Given the description of an element on the screen output the (x, y) to click on. 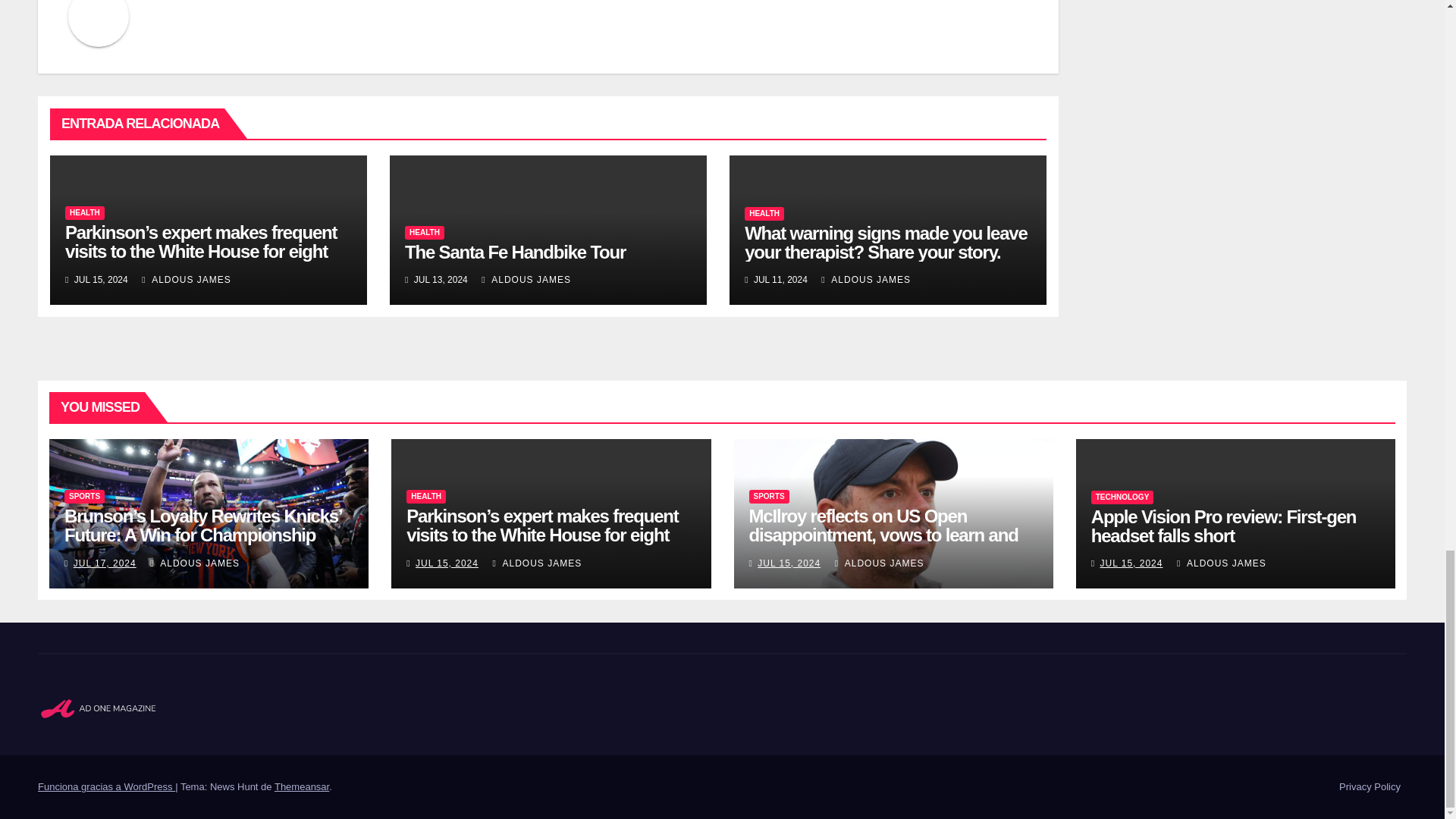
ALDOUS JAMES (186, 279)
ALDOUS JAMES (866, 279)
ALDOUS JAMES (525, 279)
The Santa Fe Handbike Tour (515, 251)
Privacy Policy (1369, 786)
HEALTH (424, 232)
HEALTH (84, 213)
Permalink to: The Santa Fe Handbike Tour (515, 251)
HEALTH (764, 213)
